Given the description of an element on the screen output the (x, y) to click on. 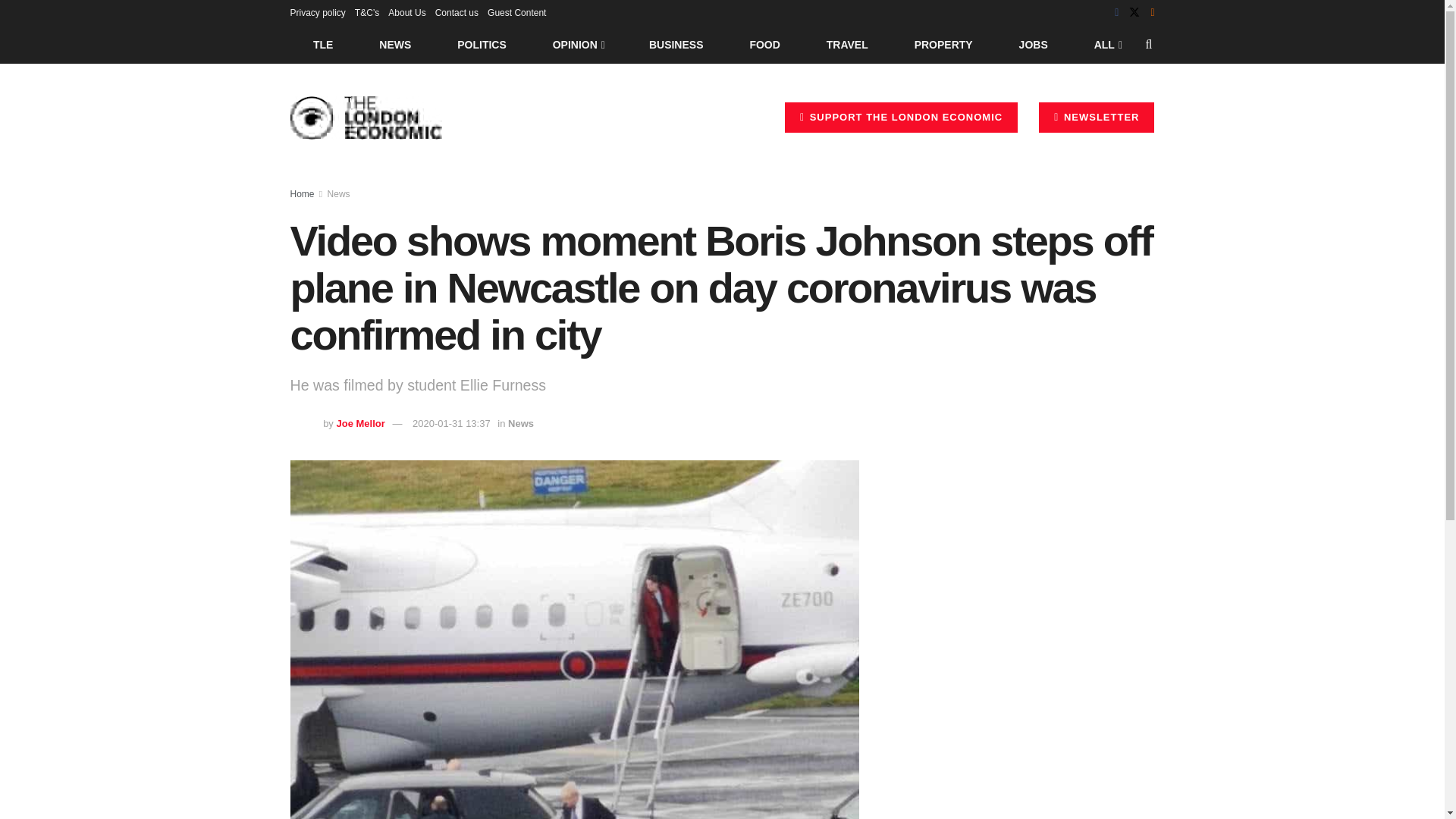
OPINION (577, 44)
Home (301, 194)
ALL (1106, 44)
NEWS (394, 44)
TRAVEL (847, 44)
PROPERTY (943, 44)
Contact us (457, 12)
POLITICS (481, 44)
BUSINESS (676, 44)
TLE (322, 44)
